Given the description of an element on the screen output the (x, y) to click on. 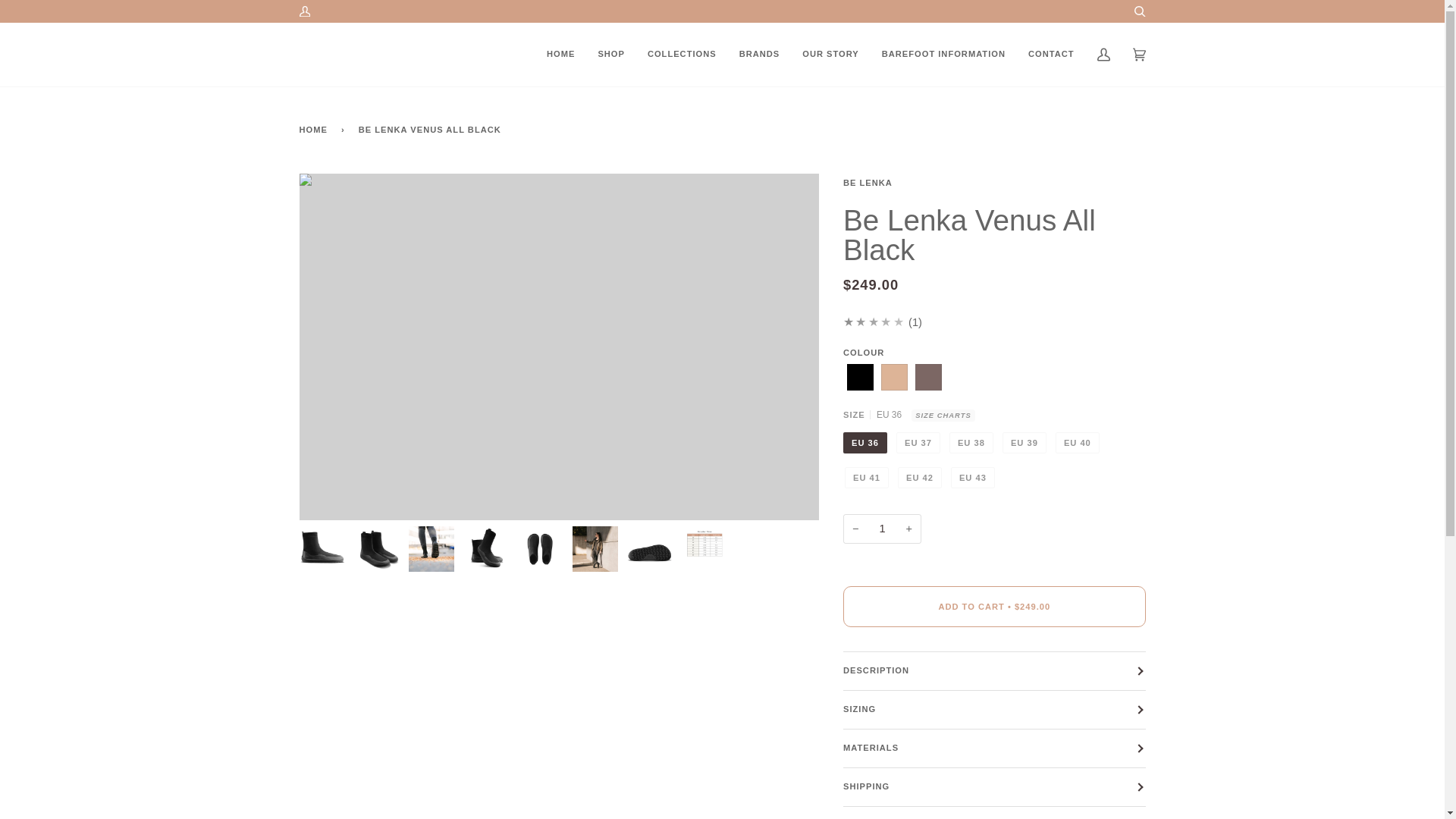
Back to the frontpage (314, 129)
Be Lenka Venus All Black (860, 376)
BRANDS (760, 54)
Be Lenka Venus Dark Chocolate (928, 376)
1 (882, 528)
COLLECTIONS (682, 54)
Be Lenka Venus Nude Brown (893, 376)
